Given the description of an element on the screen output the (x, y) to click on. 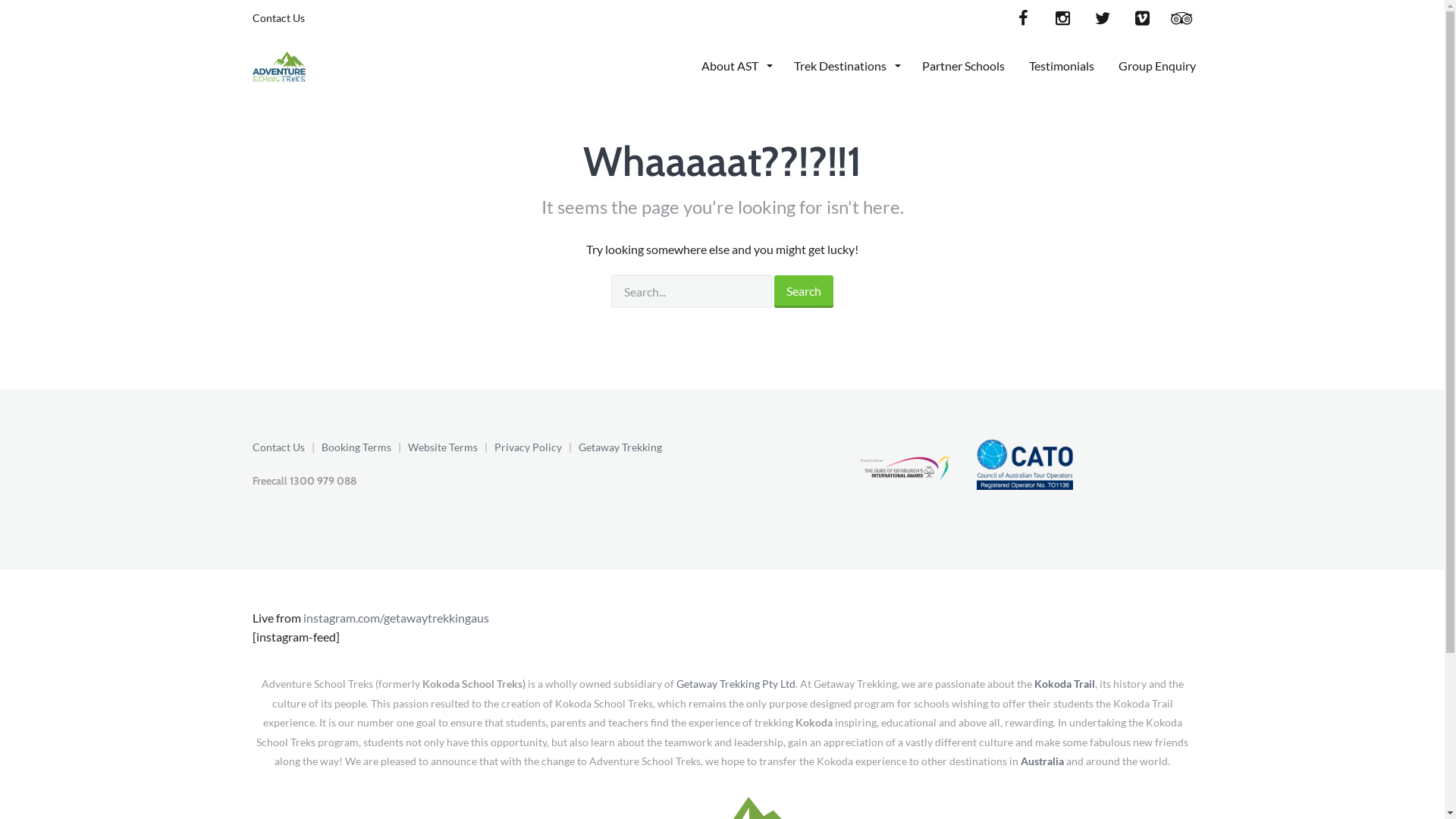
Contact Us Element type: text (277, 446)
Adventure School Treks Element type: hover (278, 64)
Website Terms Element type: text (442, 446)
Booking Terms Element type: text (356, 446)
Search Element type: text (803, 291)
Getaway Trekking Pty Ltd Element type: text (735, 683)
Search for: Element type: hover (691, 290)
About AST Element type: text (734, 65)
Group Enquiry Element type: text (1156, 65)
Australia Element type: text (1041, 760)
Privacy Policy Element type: text (527, 446)
Getaway Trekking Element type: text (619, 446)
Testimonials Element type: text (1060, 65)
Trek Destinations Element type: text (845, 65)
Contact Us Element type: text (277, 18)
Kokoda Trail Element type: text (1064, 683)
Partner Schools Element type: text (963, 65)
instagram.com/getawaytrekkingaus Element type: text (396, 617)
